Given the description of an element on the screen output the (x, y) to click on. 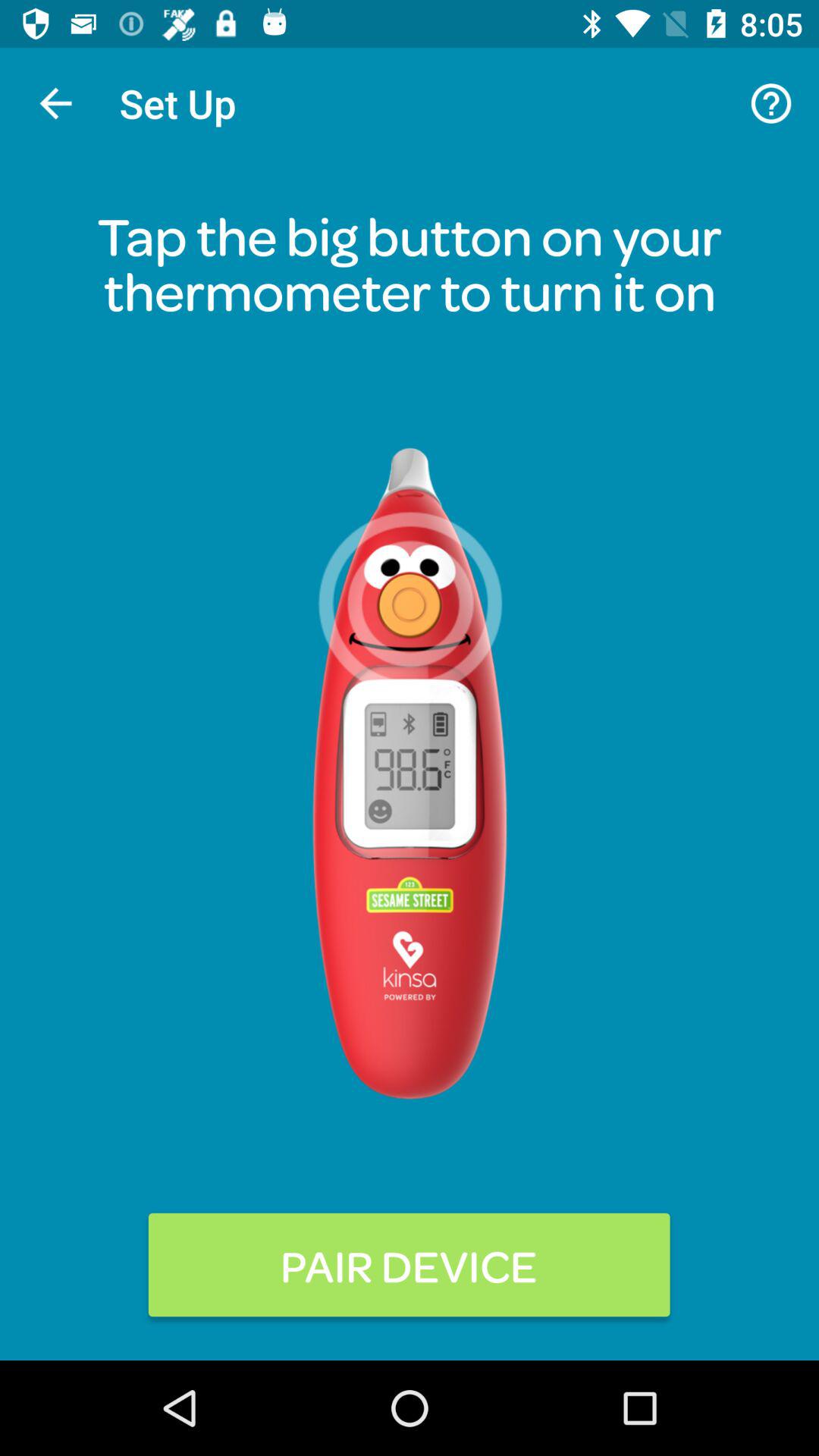
scroll until pair device (408, 1264)
